Given the description of an element on the screen output the (x, y) to click on. 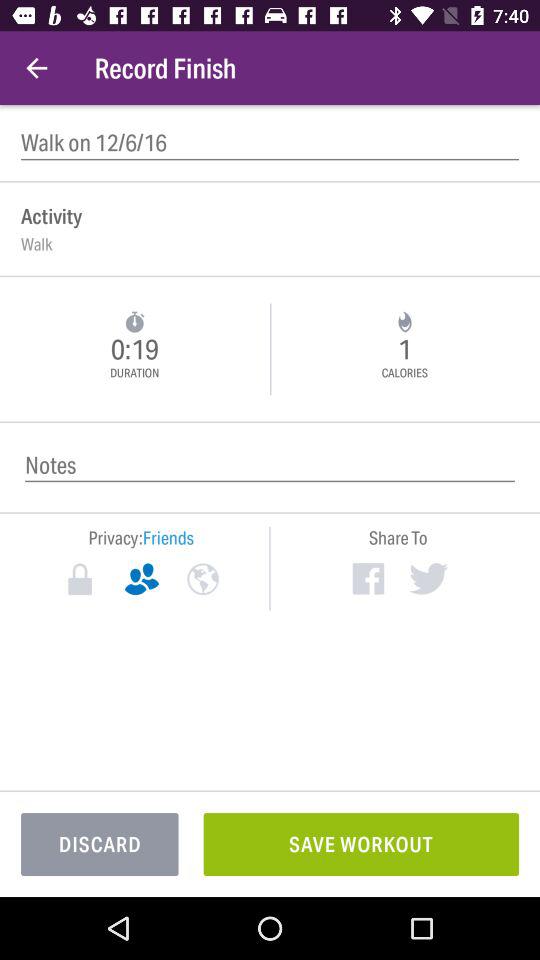
would give privacy to anyone (202, 579)
